Given the description of an element on the screen output the (x, y) to click on. 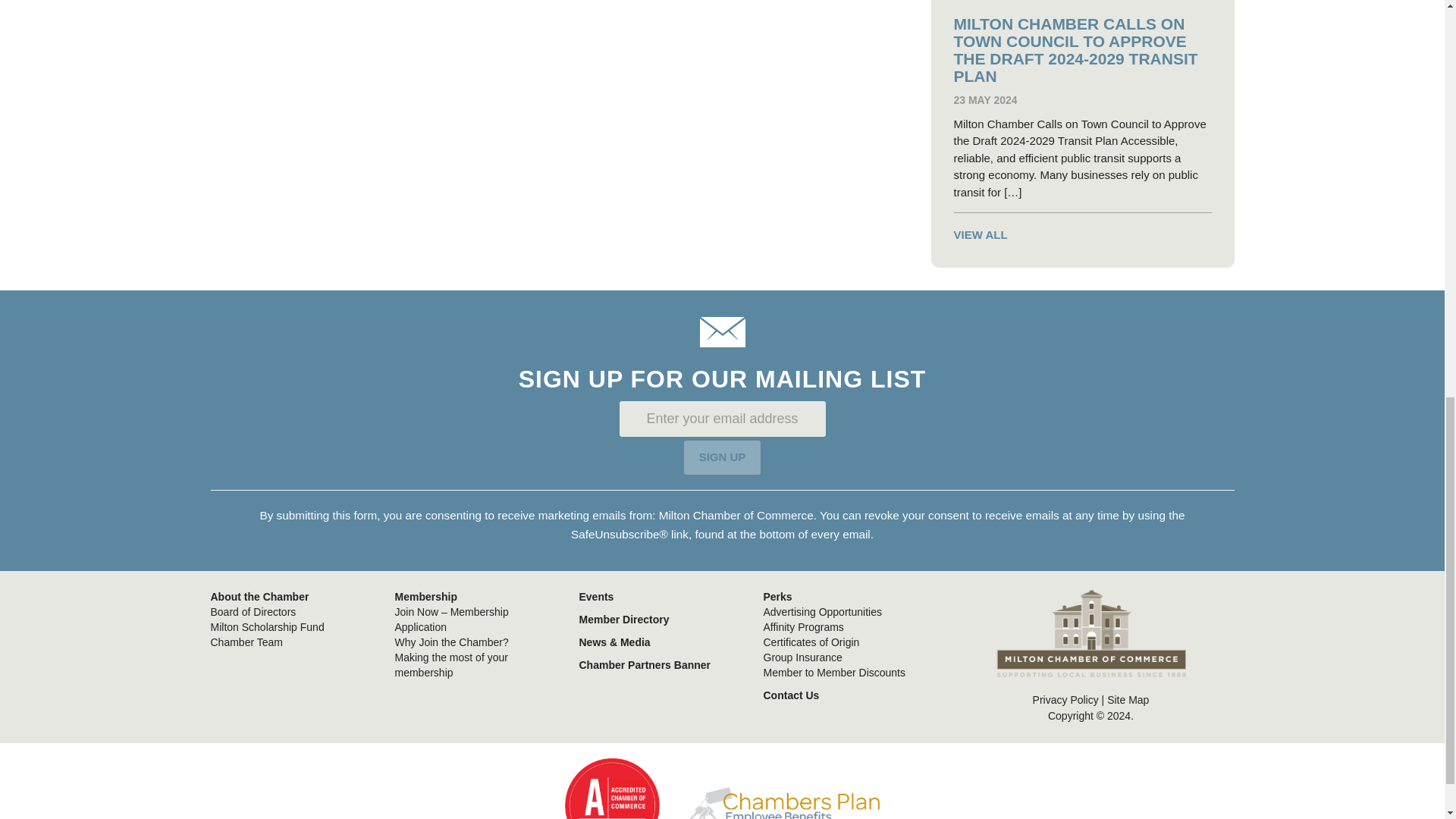
Sign Up (722, 457)
